Given the description of an element on the screen output the (x, y) to click on. 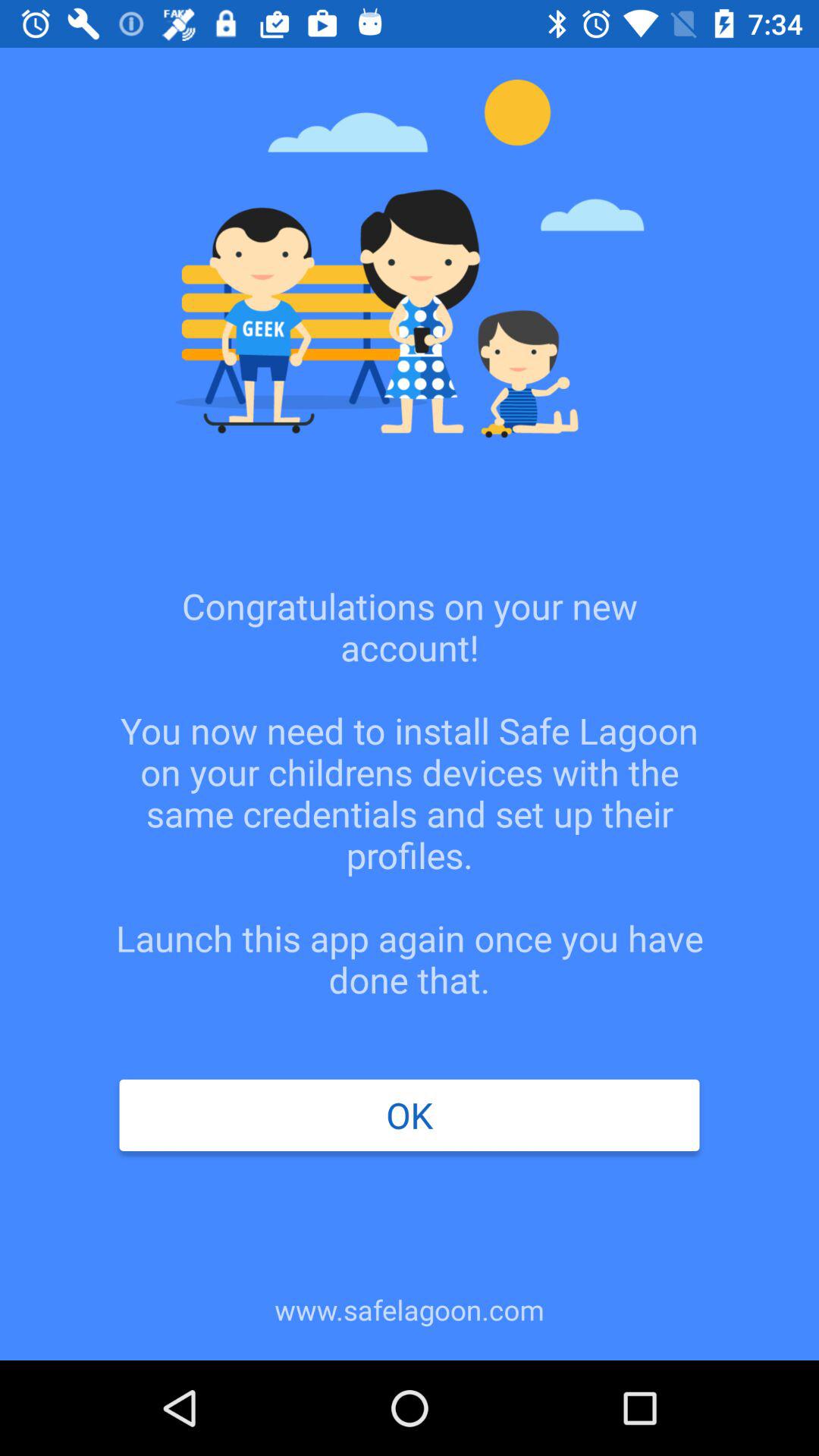
tap the icon above the www.safelagoon.com icon (409, 1115)
